Given the description of an element on the screen output the (x, y) to click on. 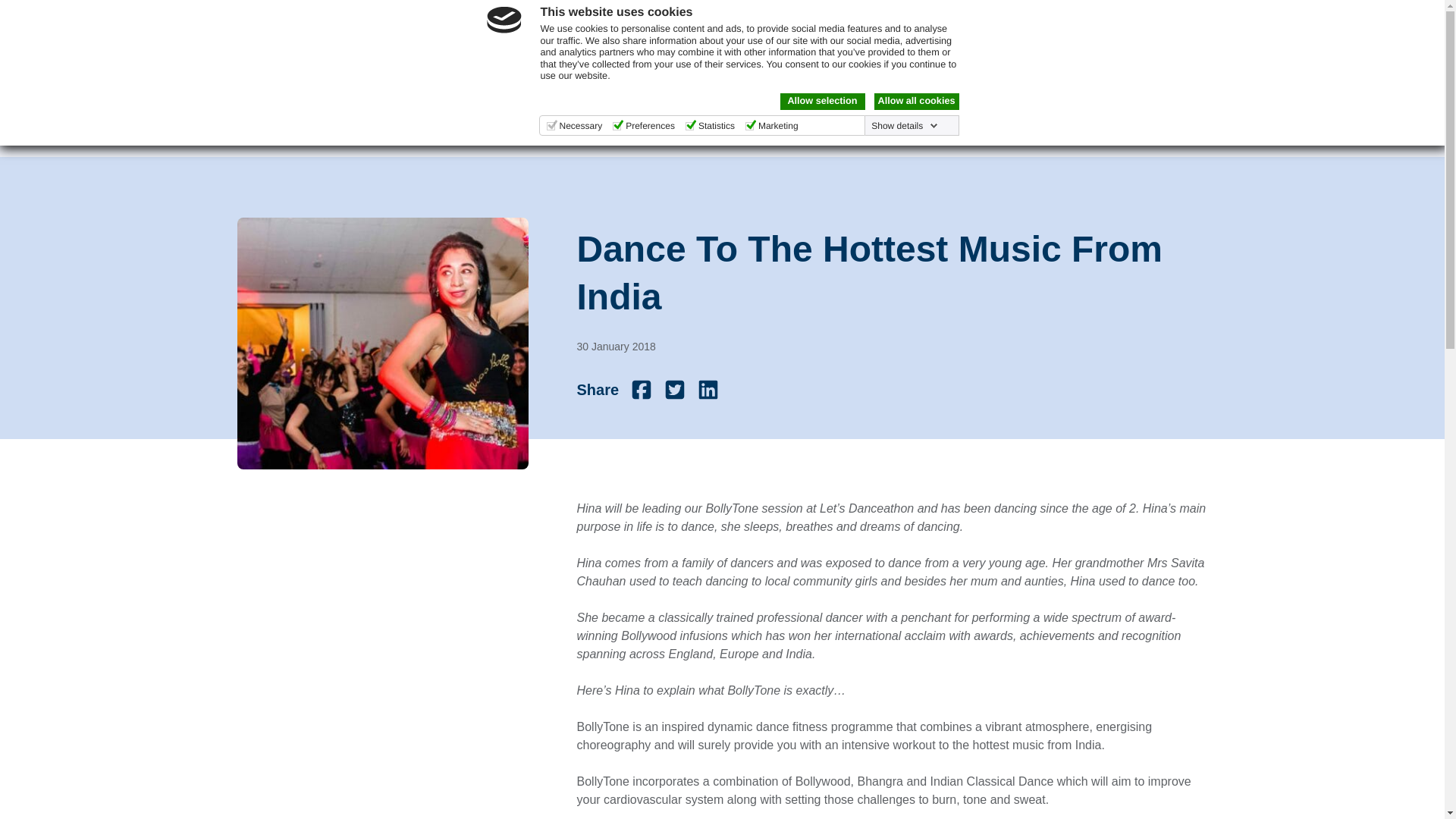
Allow all cookies (915, 101)
Show details (903, 125)
Allow selection (821, 101)
